Given the description of an element on the screen output the (x, y) to click on. 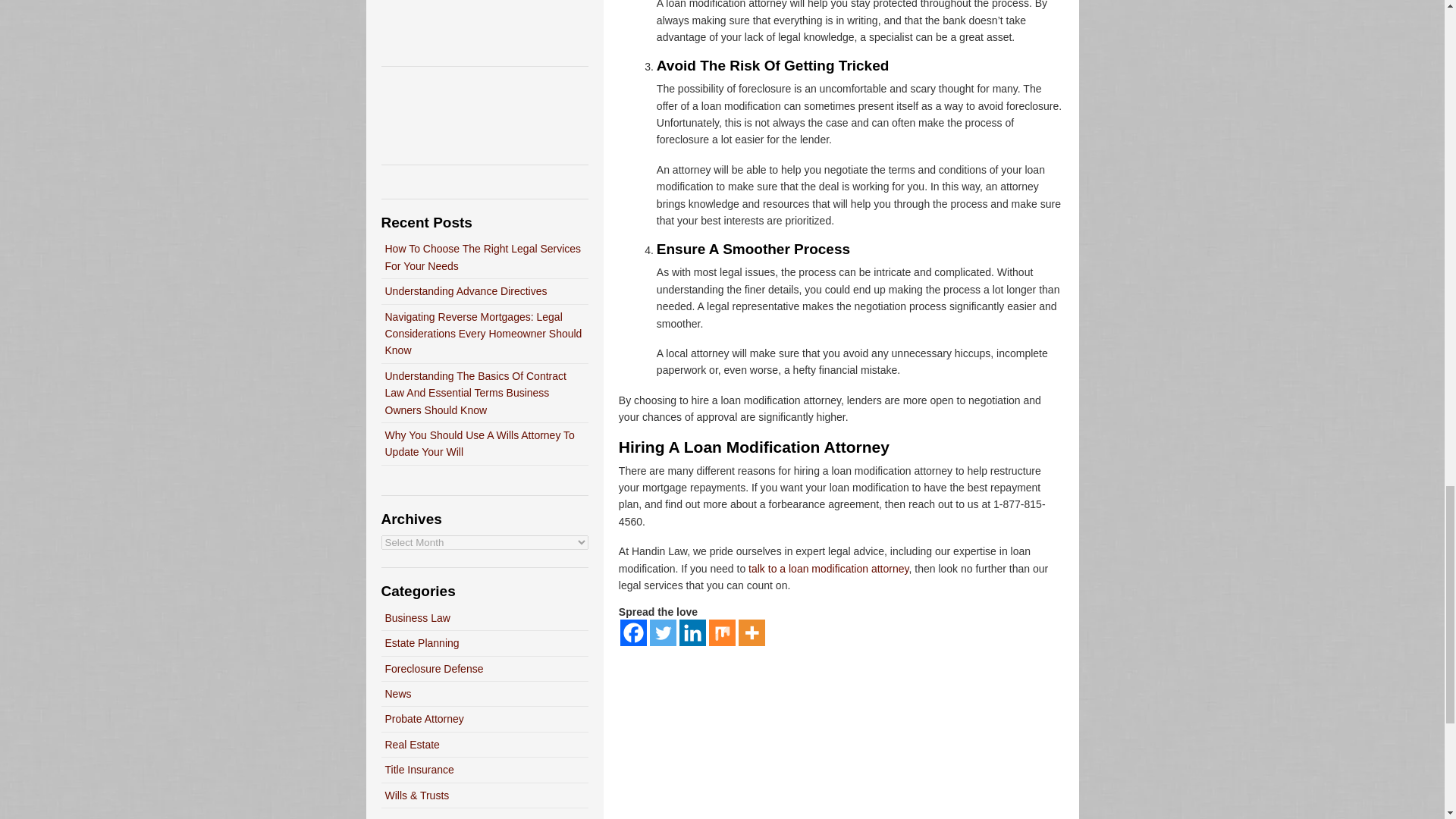
Understanding Advance Directives (466, 291)
Twitter (663, 632)
Business Law (417, 617)
Foreclosure Defense (434, 668)
Estate Planning (422, 643)
Linkedin (692, 632)
How To Choose The Right Legal Services For Your Needs (482, 256)
More (751, 632)
News (398, 693)
